Given the description of an element on the screen output the (x, y) to click on. 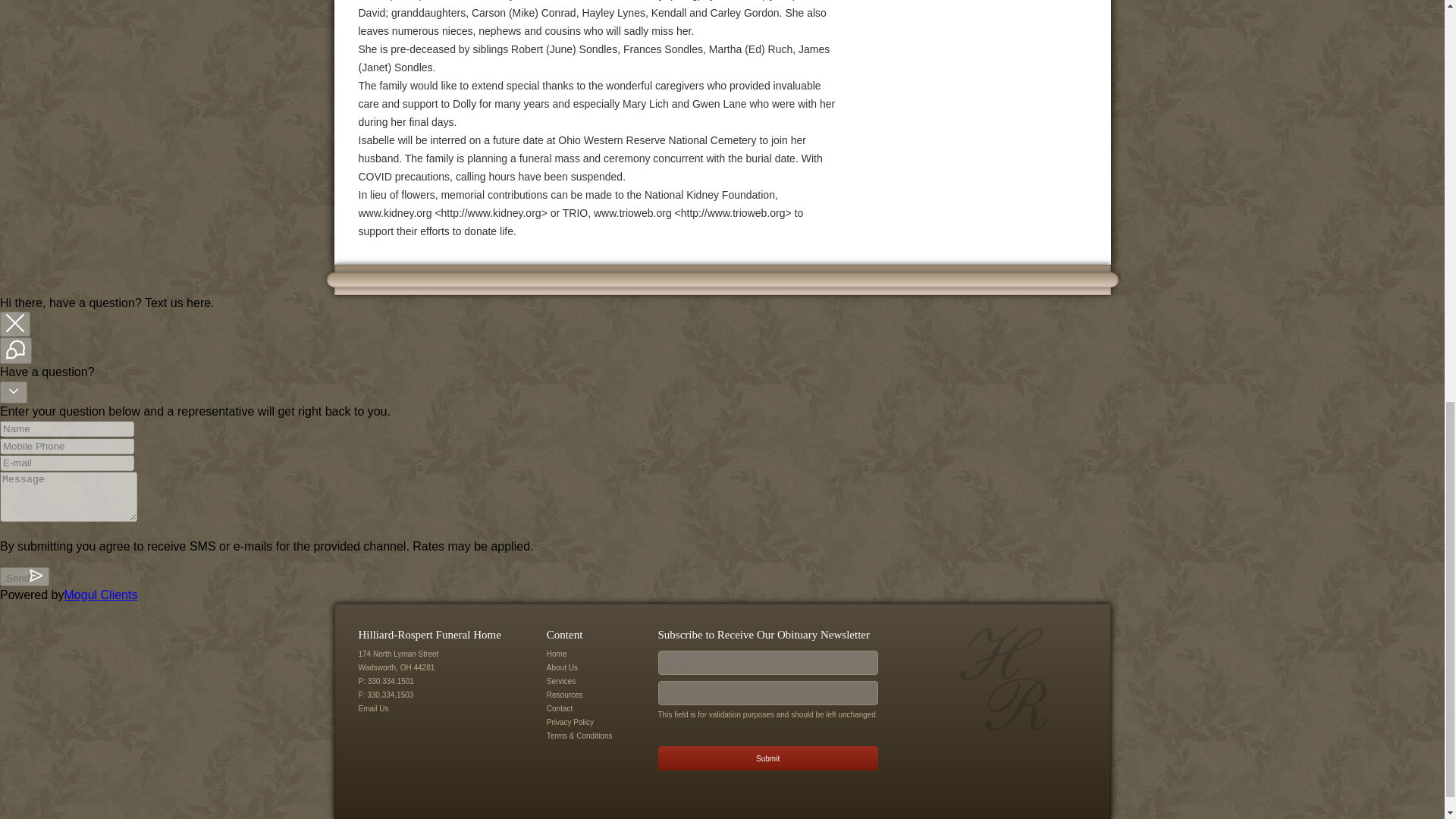
Submit (767, 758)
